Given the description of an element on the screen output the (x, y) to click on. 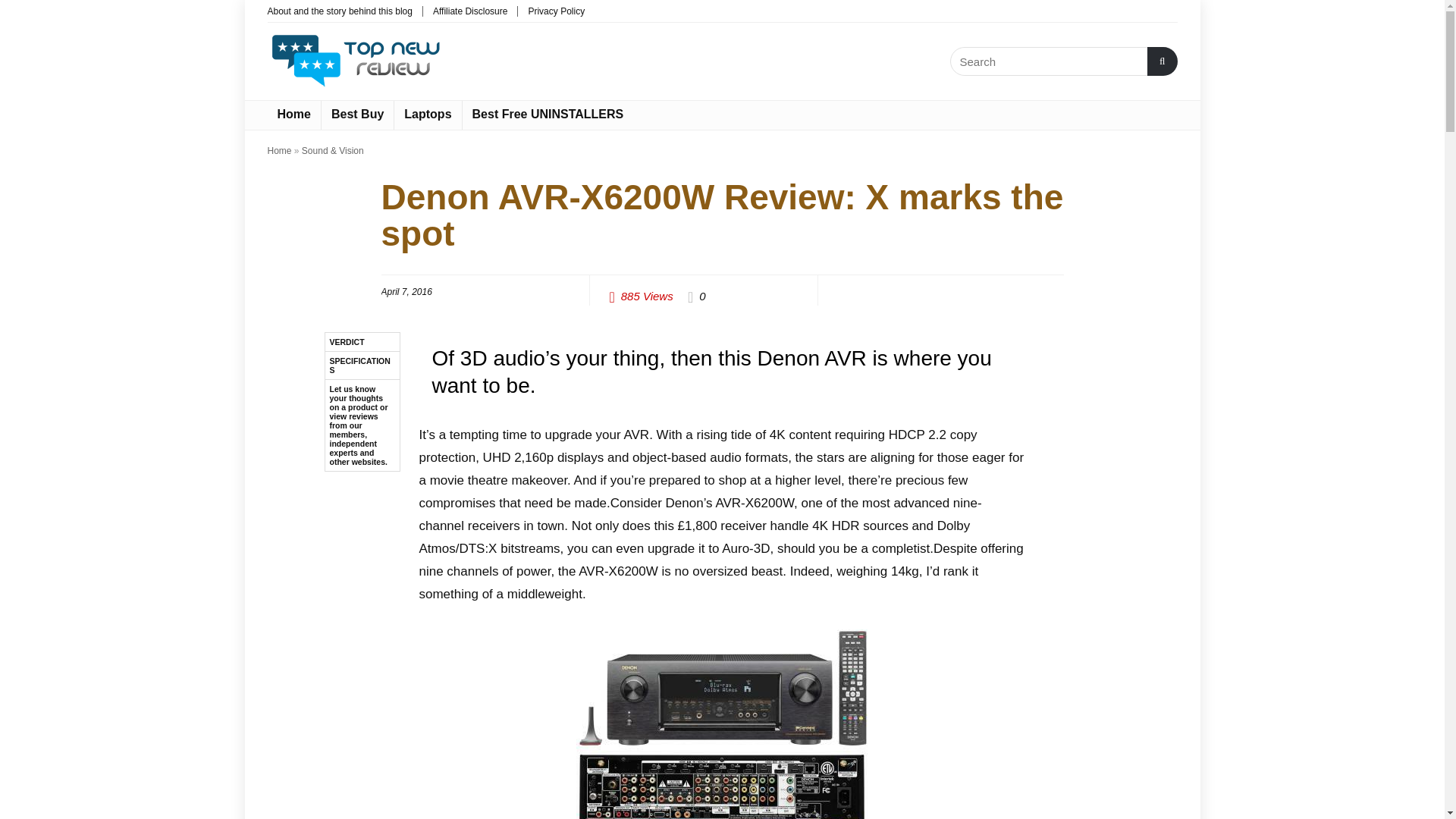
SPECIFICATIONS (361, 366)
Home (293, 114)
Affiliate Disclosure (469, 10)
Privacy Policy (556, 10)
Best Buy (357, 114)
VERDICT (361, 342)
Best Free UNINSTALLERS (548, 114)
About and the story behind this blog (339, 10)
Laptops (427, 114)
Home (278, 150)
